Given the description of an element on the screen output the (x, y) to click on. 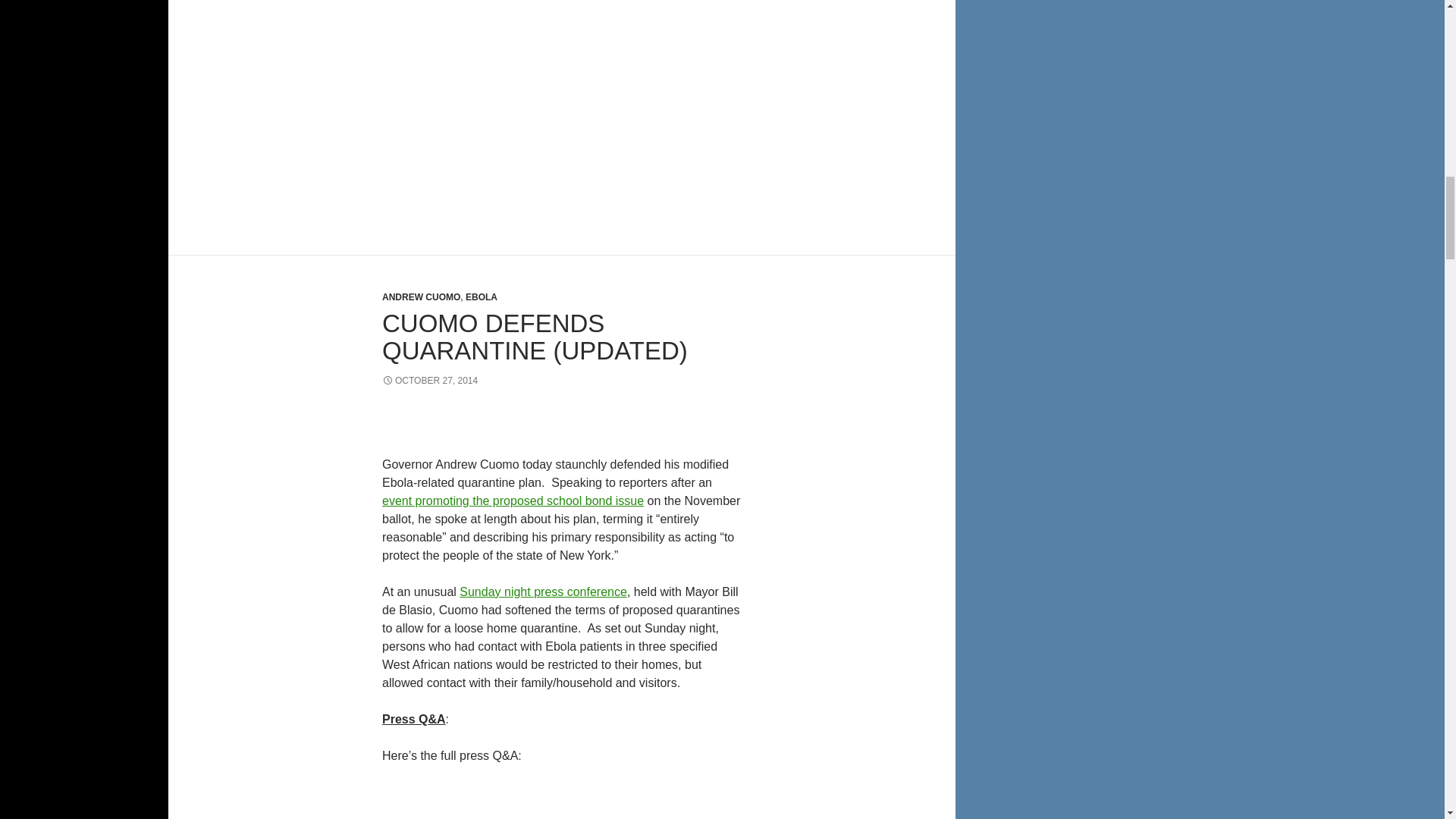
Cuomo Oakdale 10-28-14 Ebola (561, 97)
event promoting the proposed school bond issue (512, 500)
ANDREW CUOMO (420, 296)
OCTOBER 27, 2014 (429, 380)
Sunday night press conference (543, 591)
EBOLA (481, 296)
